Given the description of an element on the screen output the (x, y) to click on. 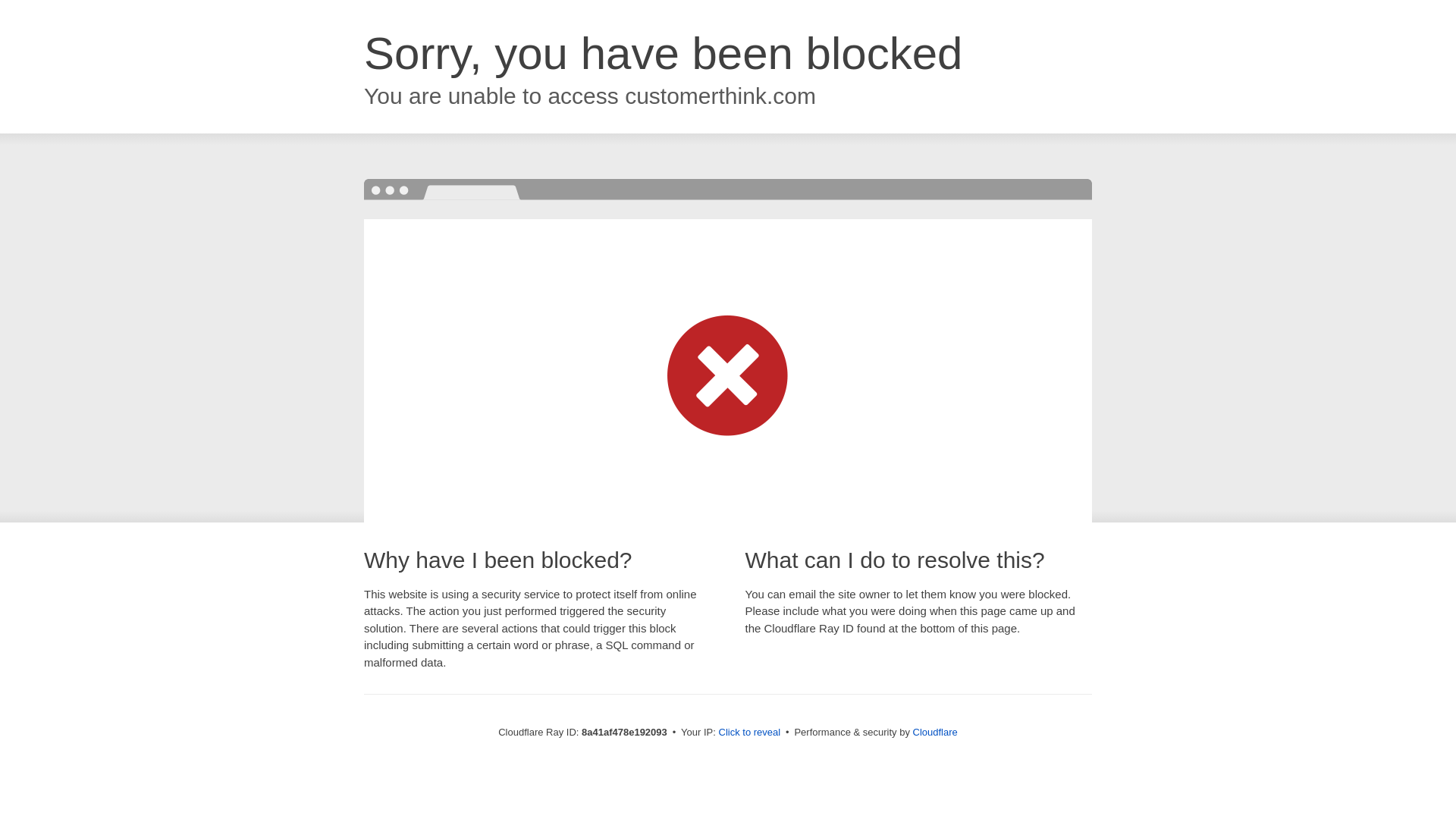
Cloudflare (935, 731)
Click to reveal (749, 732)
